Given the description of an element on the screen output the (x, y) to click on. 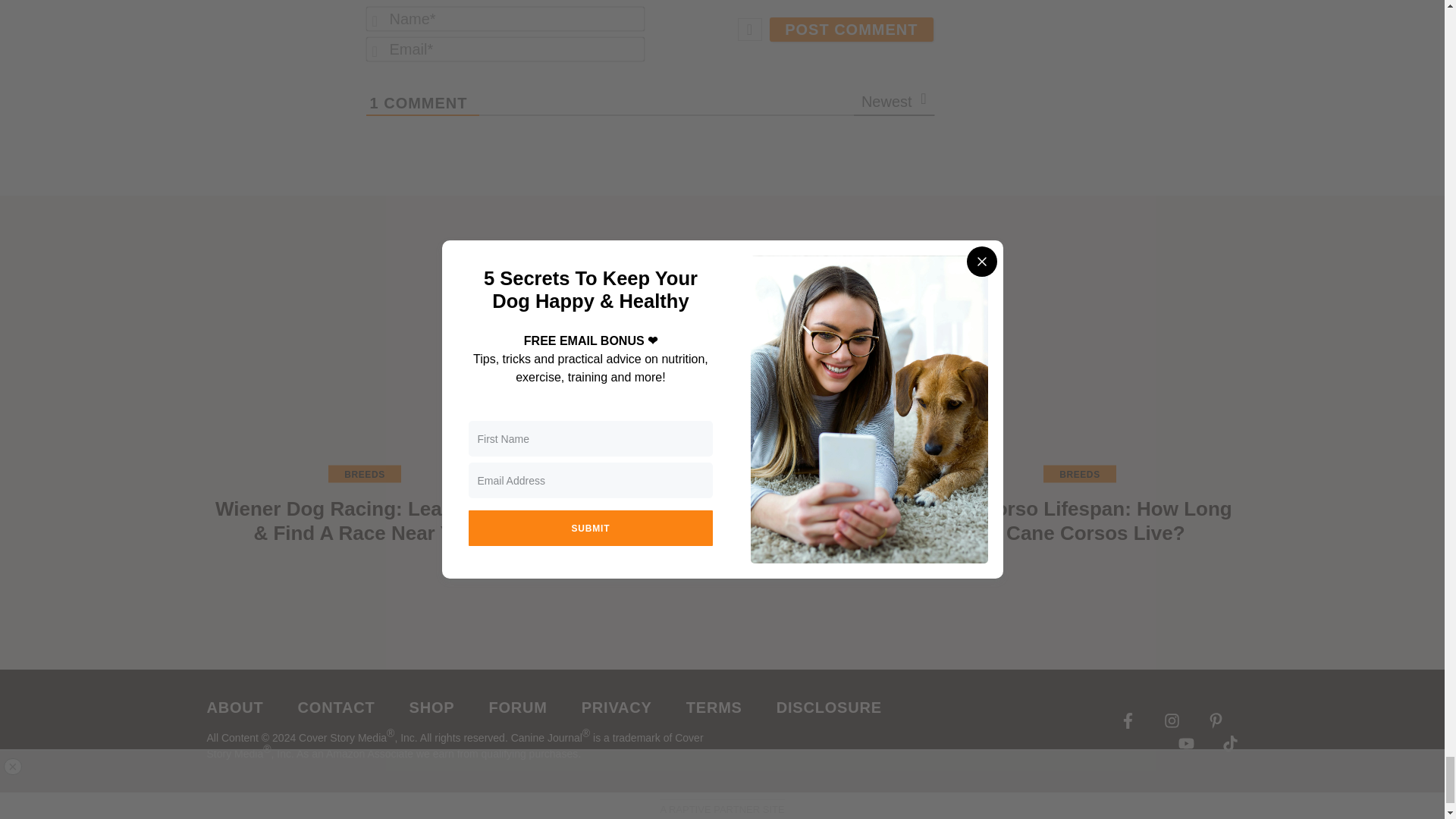
Post Comment (851, 29)
